Given the description of an element on the screen output the (x, y) to click on. 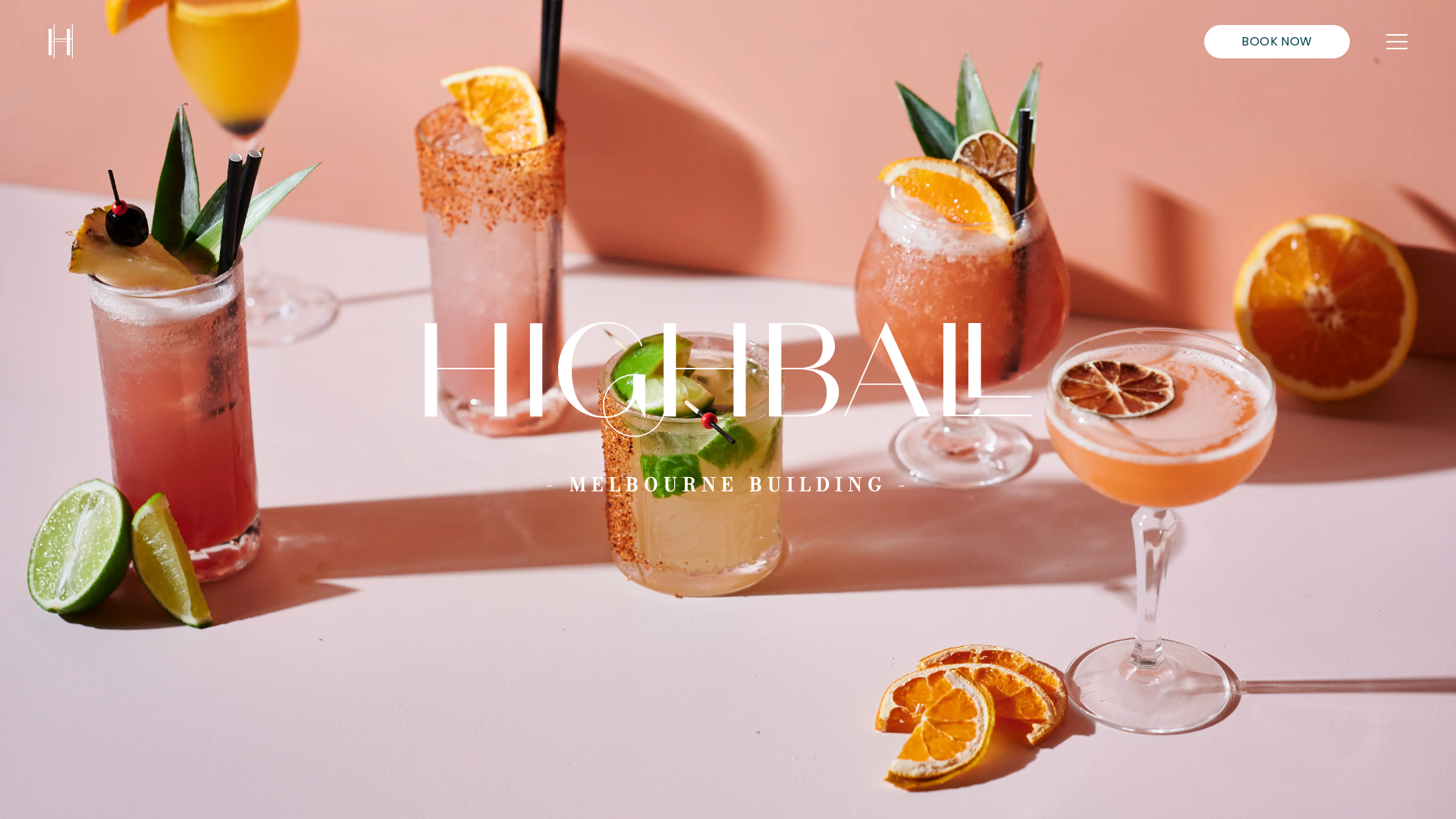
BOOK NOW Element type: text (1276, 41)
